Given the description of an element on the screen output the (x, y) to click on. 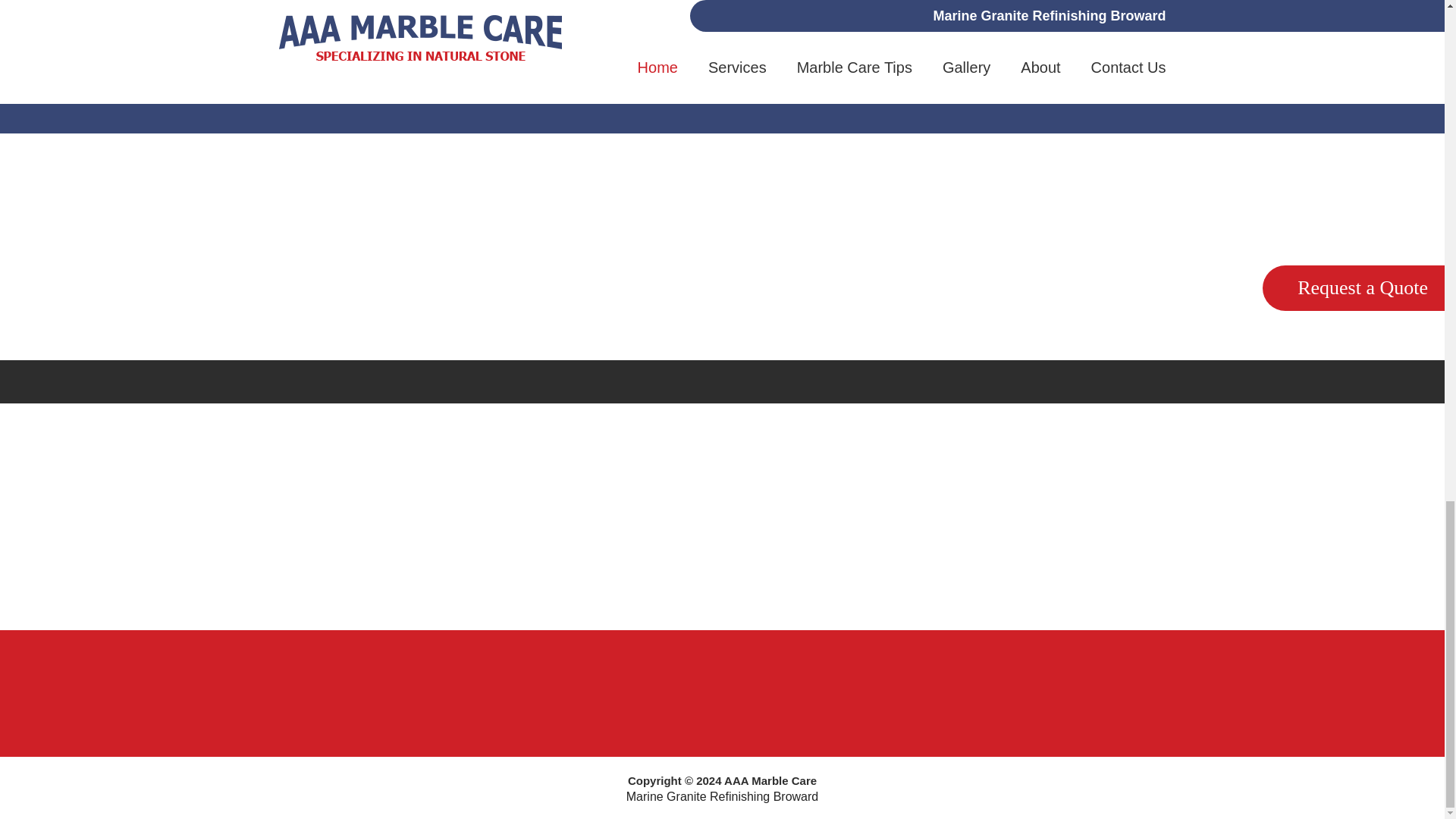
Marine Granite Refinishing Broward (722, 796)
